Given the description of an element on the screen output the (x, y) to click on. 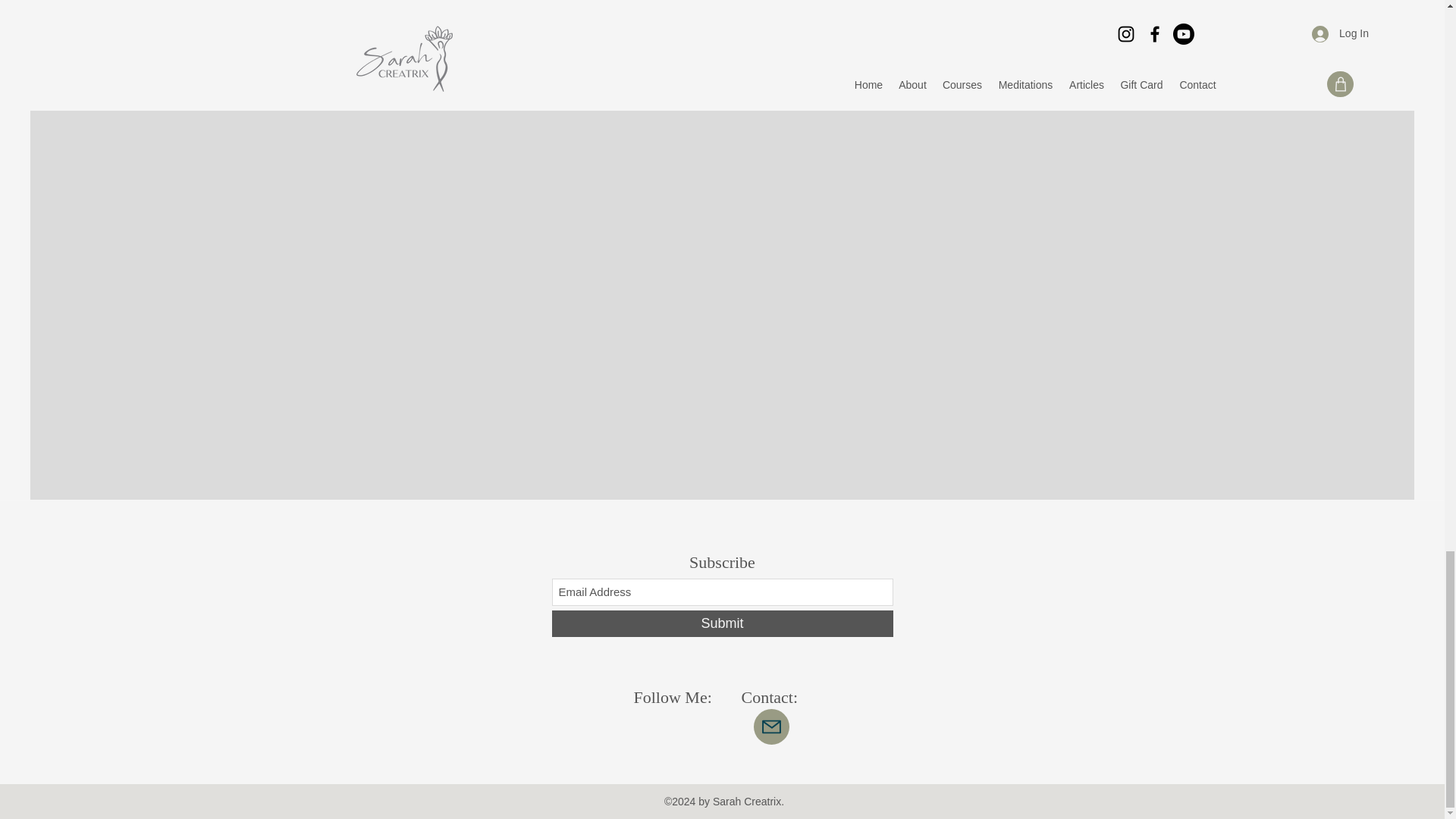
Submit (722, 623)
